Given the description of an element on the screen output the (x, y) to click on. 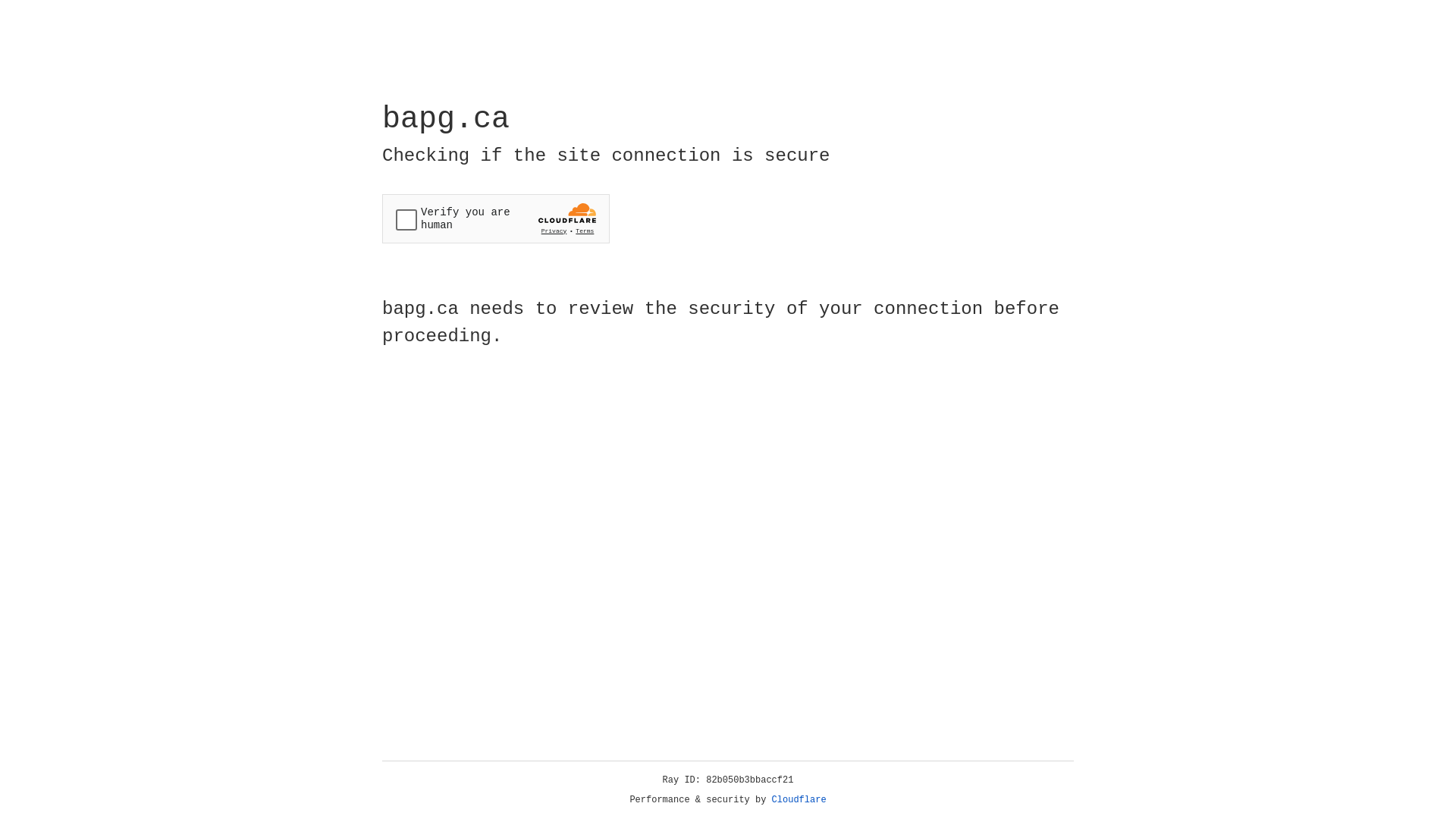
Widget containing a Cloudflare security challenge Element type: hover (495, 218)
Cloudflare Element type: text (798, 799)
